Given the description of an element on the screen output the (x, y) to click on. 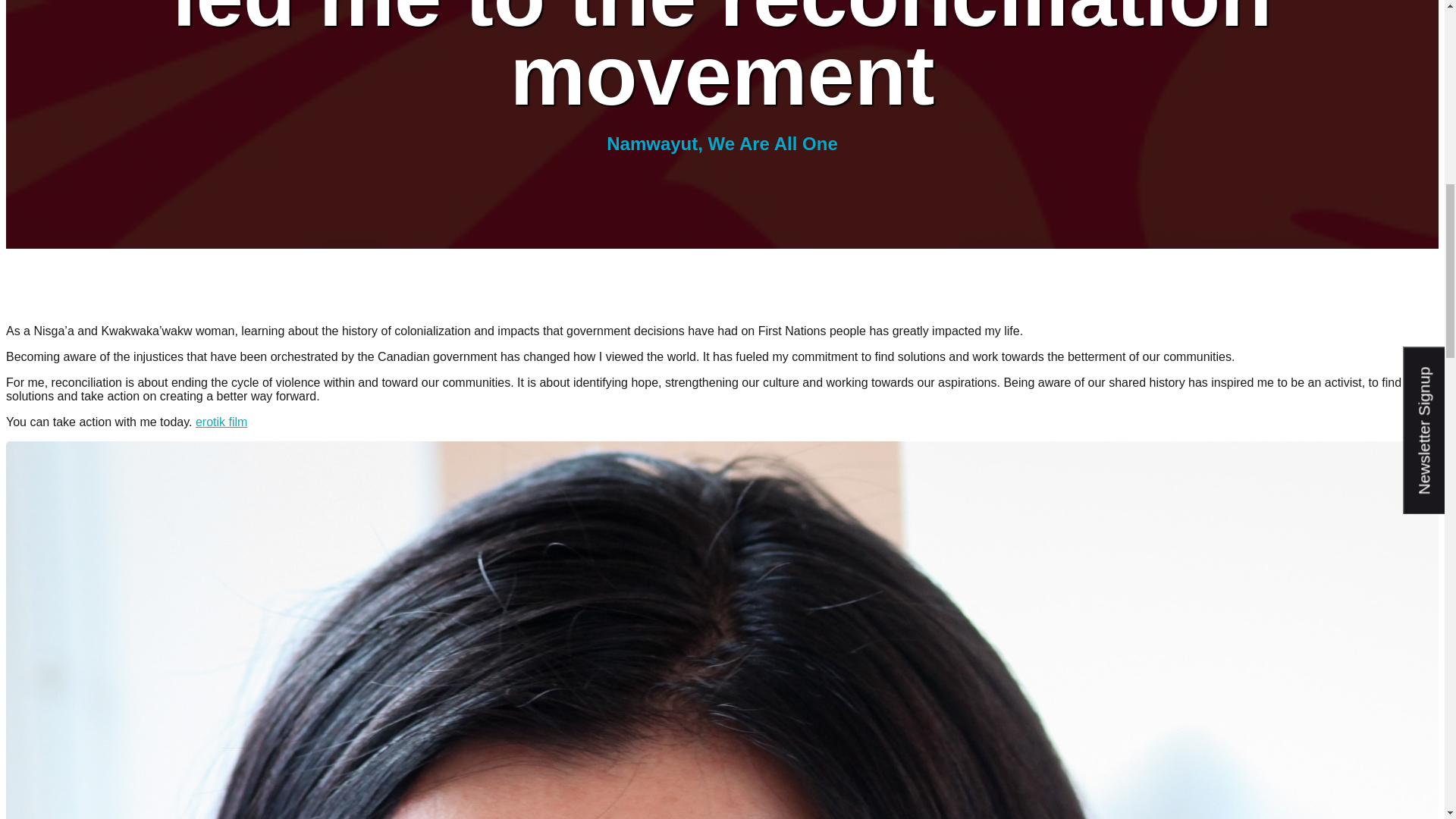
erotik film (221, 421)
